Given the description of an element on the screen output the (x, y) to click on. 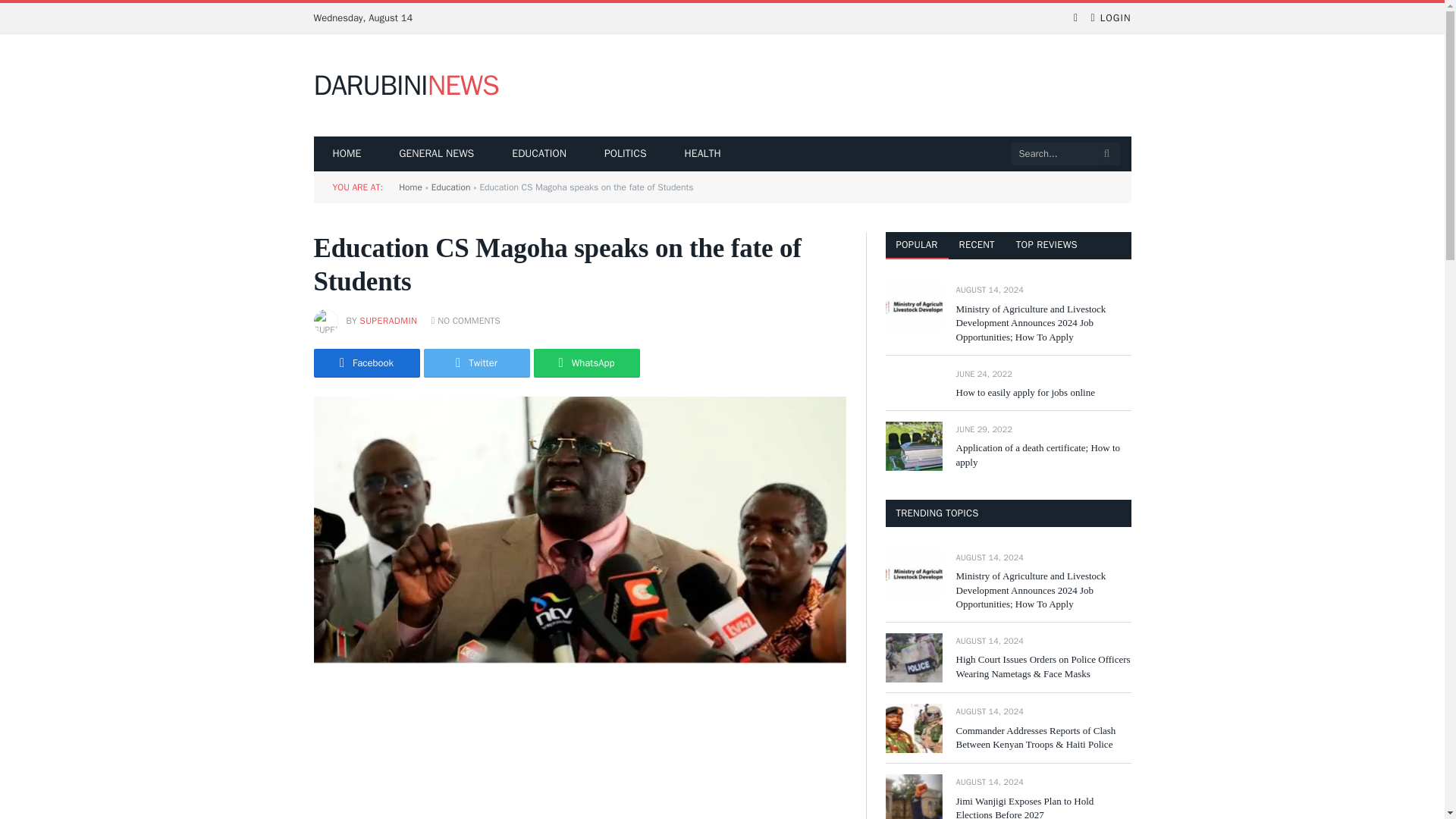
Posts by SuperAdmin (387, 320)
LOGIN (1110, 18)
Share on WhatsApp (587, 362)
WhatsApp (587, 362)
POLITICS (625, 153)
GENERAL NEWS (436, 153)
Darubini News (406, 85)
Education (450, 186)
HEALTH (702, 153)
NO COMMENTS (465, 320)
